Given the description of an element on the screen output the (x, y) to click on. 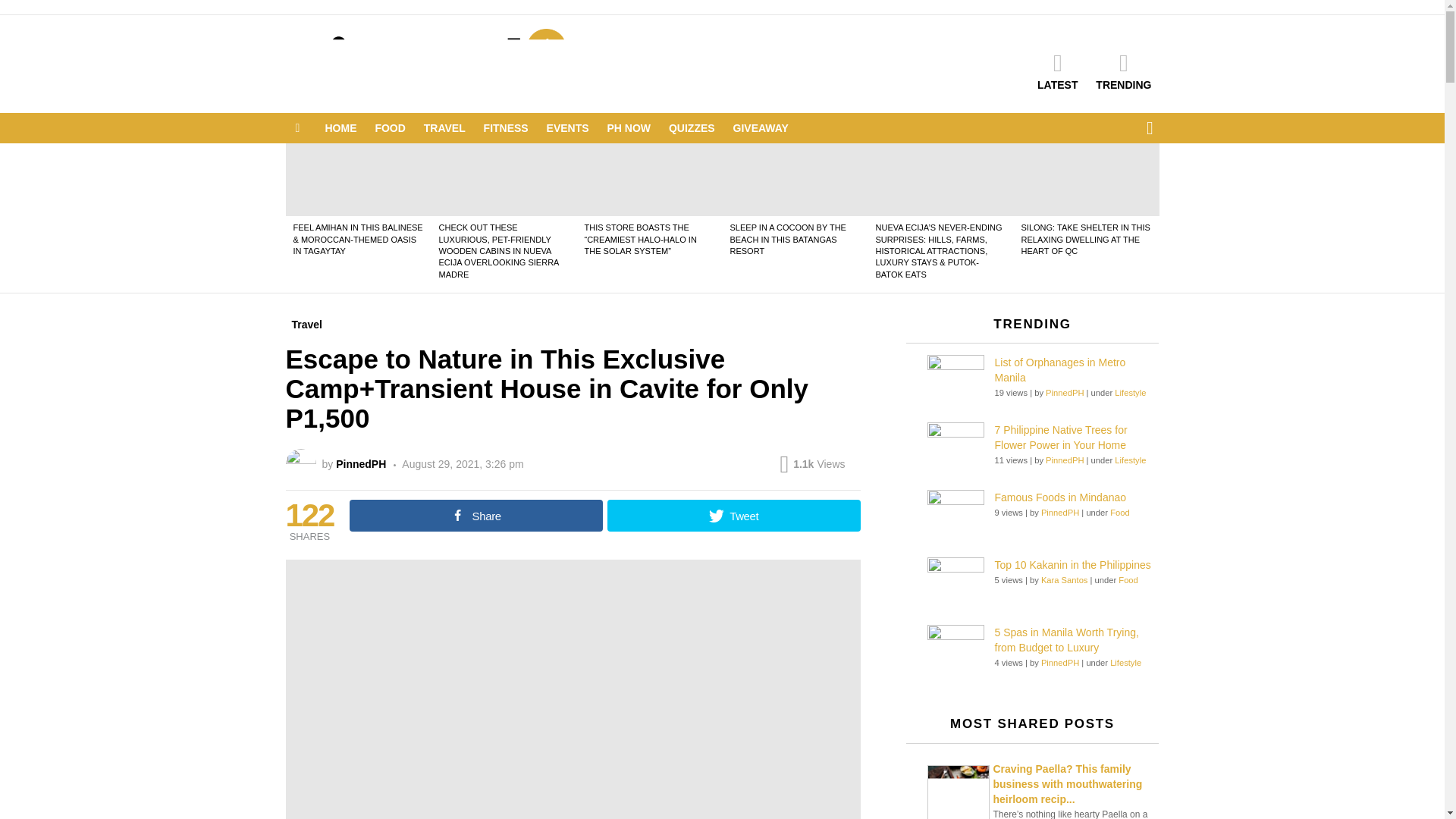
Menu (296, 127)
EVENTS (567, 128)
PH NOW (629, 128)
QUIZZES (691, 128)
Sleep in a Cocoon by the Beach in this Batangas Resort (794, 179)
Travel (306, 324)
FOOD (389, 128)
HOME (340, 128)
SEARCH (1149, 128)
SLEEP IN A COCOON BY THE BEACH IN THIS BATANGAS RESORT (787, 238)
Posts by PinnedPH (360, 463)
